Given the description of an element on the screen output the (x, y) to click on. 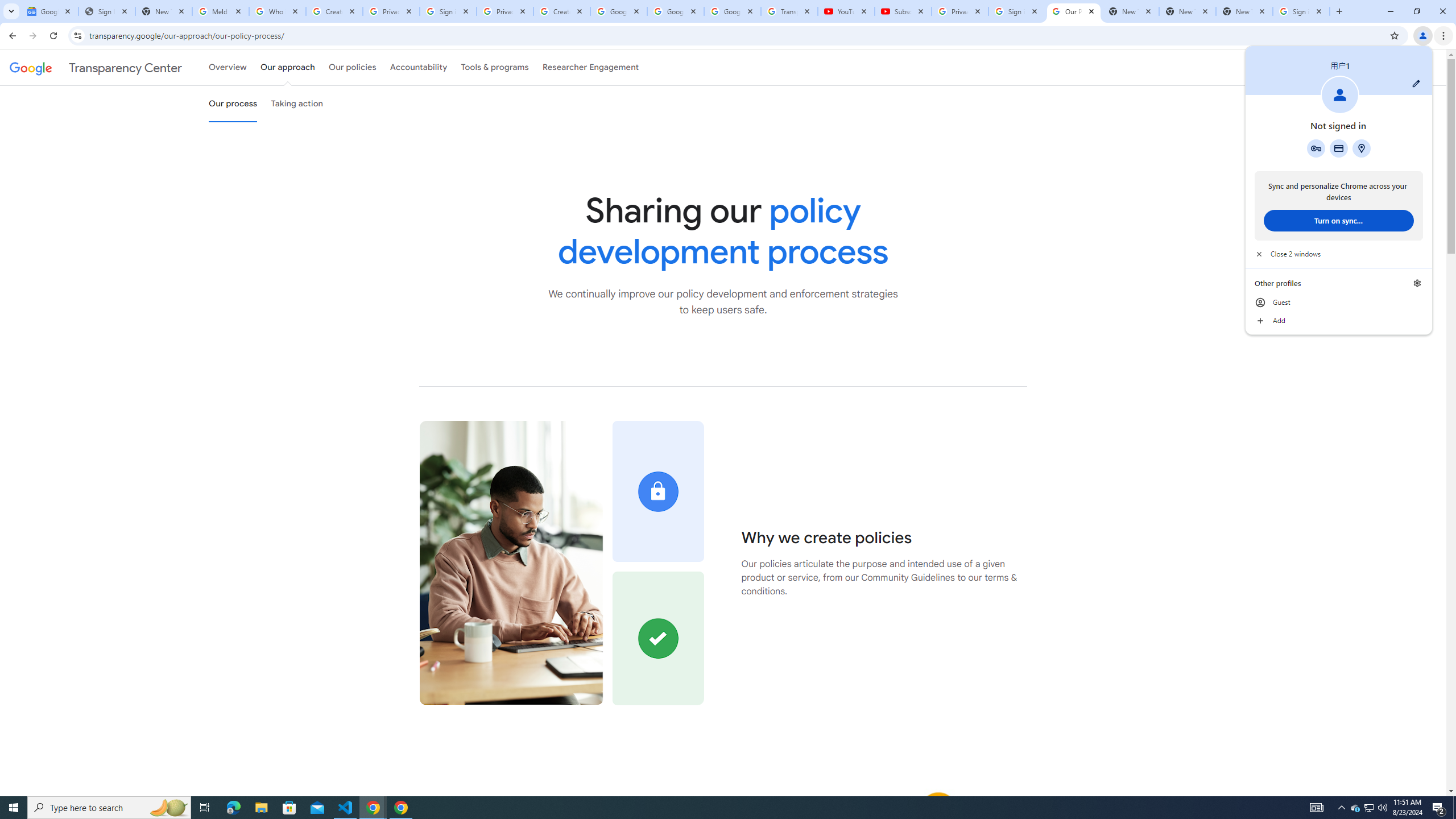
Our policies (351, 67)
Google Chrome - 2 running windows (373, 807)
Task View (204, 807)
Notification Chevron (1341, 807)
Sign In - USA TODAY (105, 11)
File Explorer (261, 807)
Sign in - Google Accounts (447, 11)
